Given the description of an element on the screen output the (x, y) to click on. 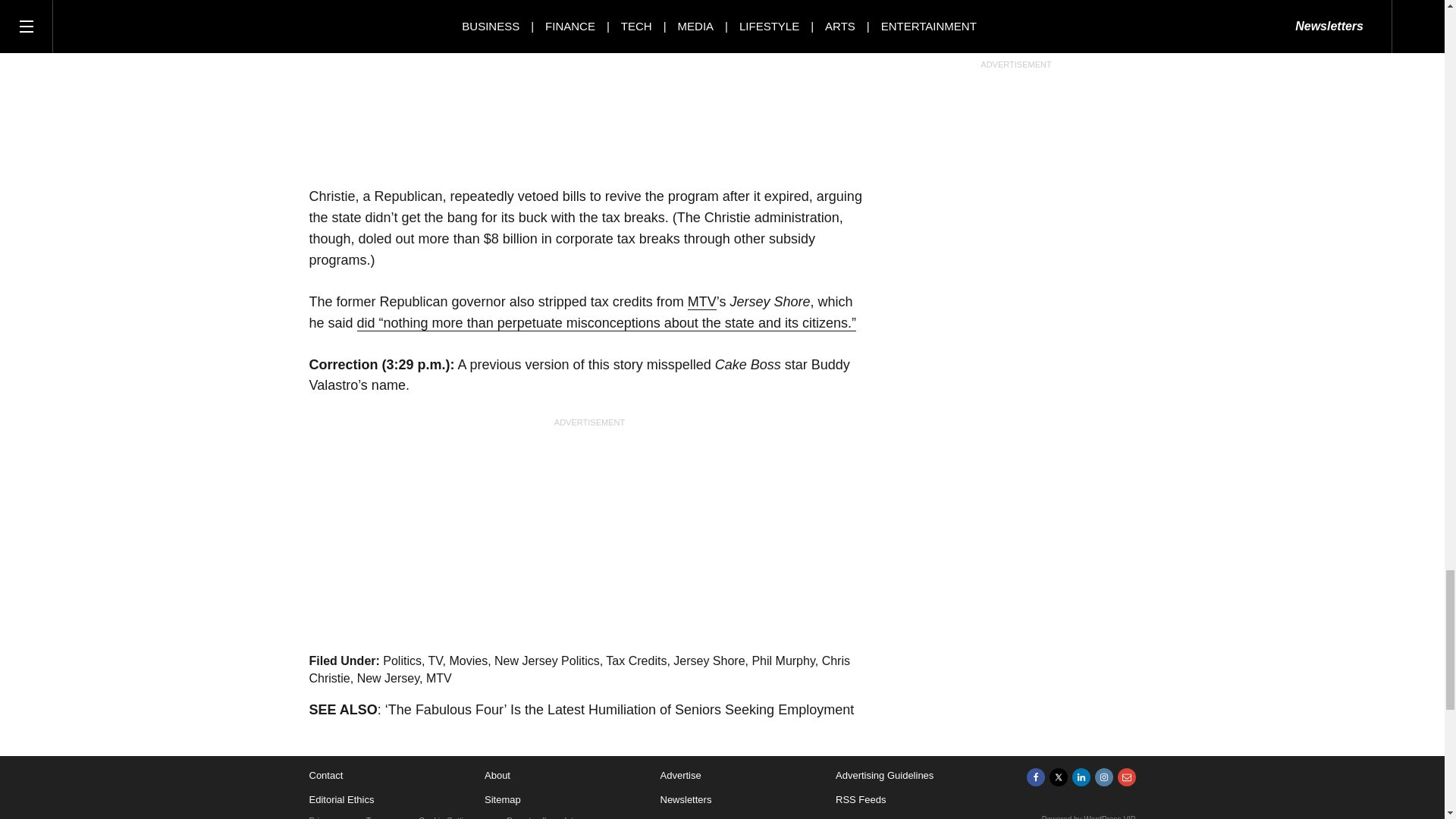
MTV (701, 302)
